Given the description of an element on the screen output the (x, y) to click on. 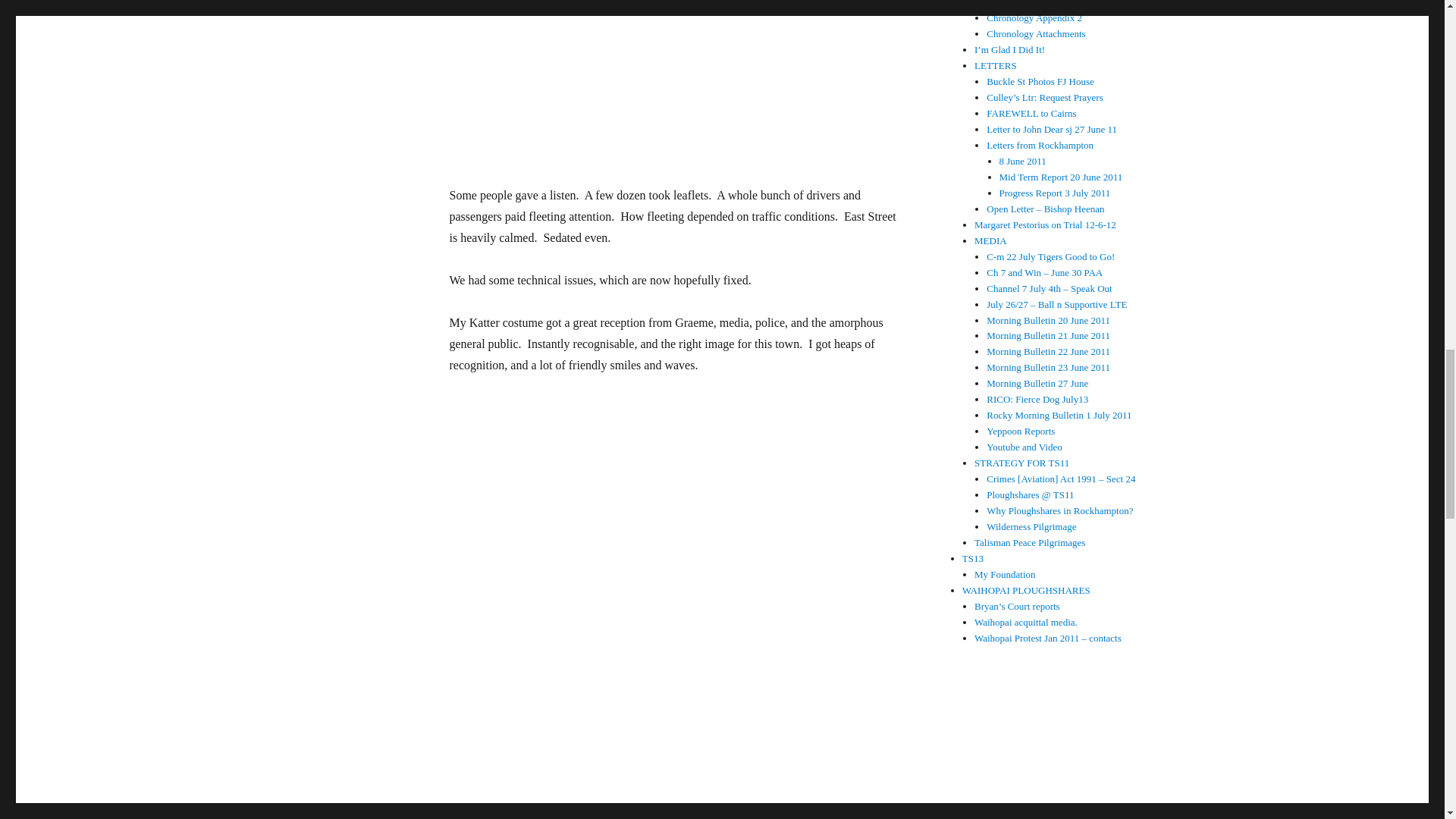
Bryan Katter - small (676, 81)
